Given the description of an element on the screen output the (x, y) to click on. 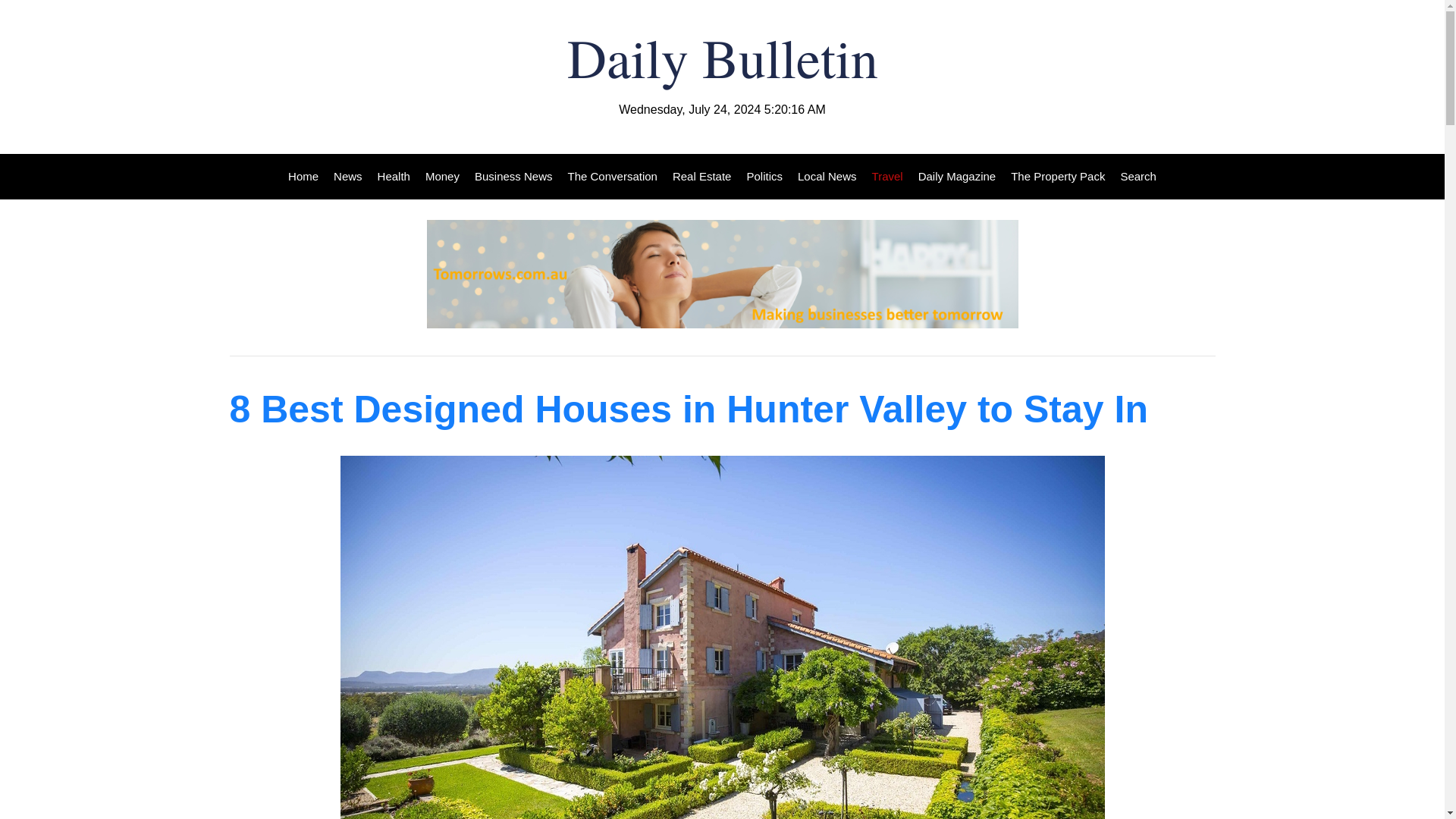
Money (442, 176)
Search (1134, 176)
The Property Pack (1057, 176)
News (347, 176)
Local News (827, 176)
Search (1134, 176)
Business News (513, 176)
Travel (887, 176)
Politics (764, 176)
Real Estate (702, 176)
The Conversation (612, 176)
Daily Magazine (957, 176)
Health (393, 176)
